Given the description of an element on the screen output the (x, y) to click on. 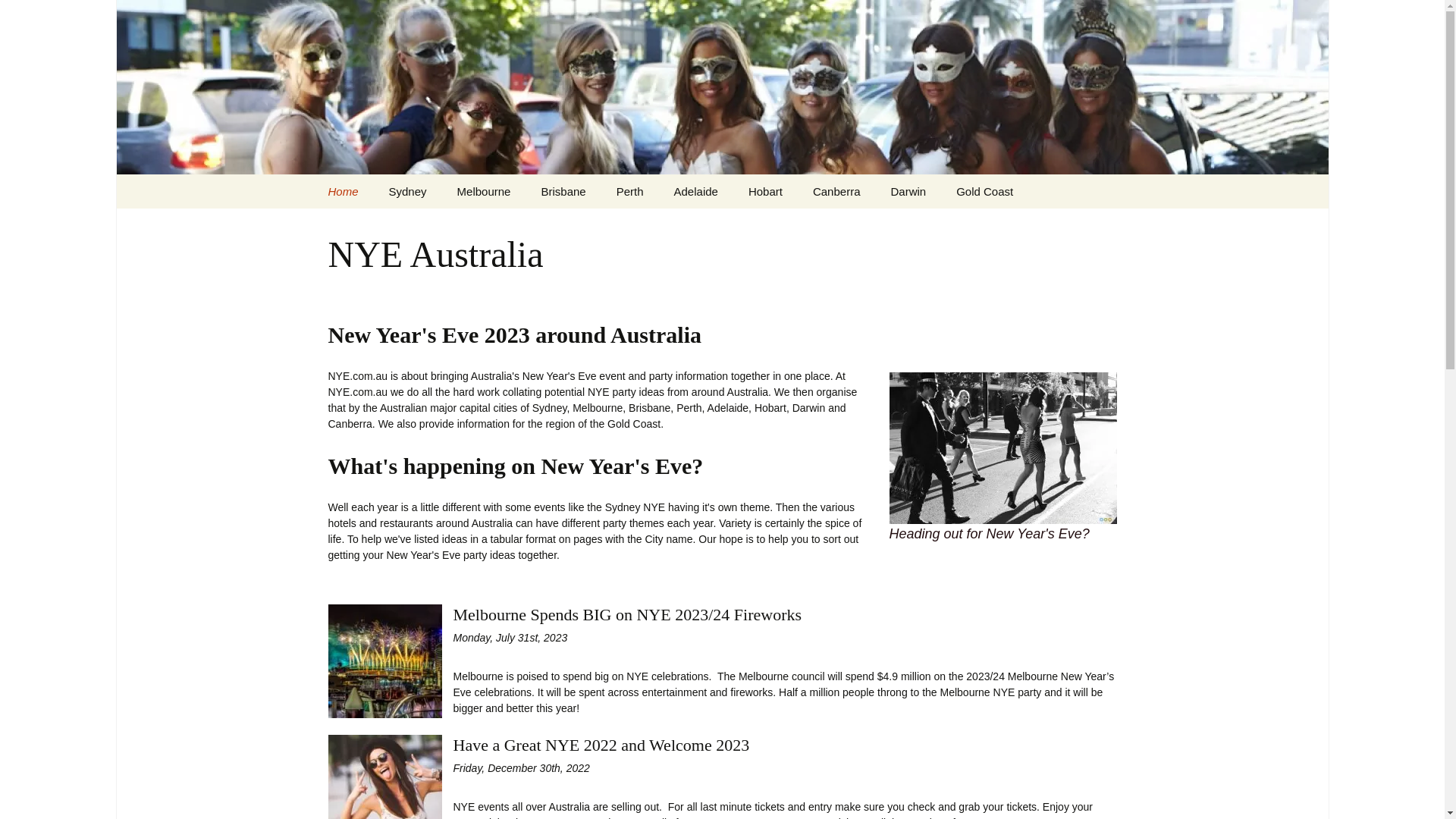
Perth Element type: text (629, 191)
NYE.com.au Element type: hover (721, 87)
Gold Coast Element type: text (984, 191)
Darwin Element type: text (908, 191)
Sydney Element type: text (407, 191)
Hobart Element type: text (765, 191)
Brisbane Element type: text (562, 191)
Adelaide Element type: text (695, 191)
Canberra Element type: text (836, 191)
Home Element type: text (342, 191)
Skip to content Element type: text (312, 310)
Melbourne Element type: text (484, 191)
